Given the description of an element on the screen output the (x, y) to click on. 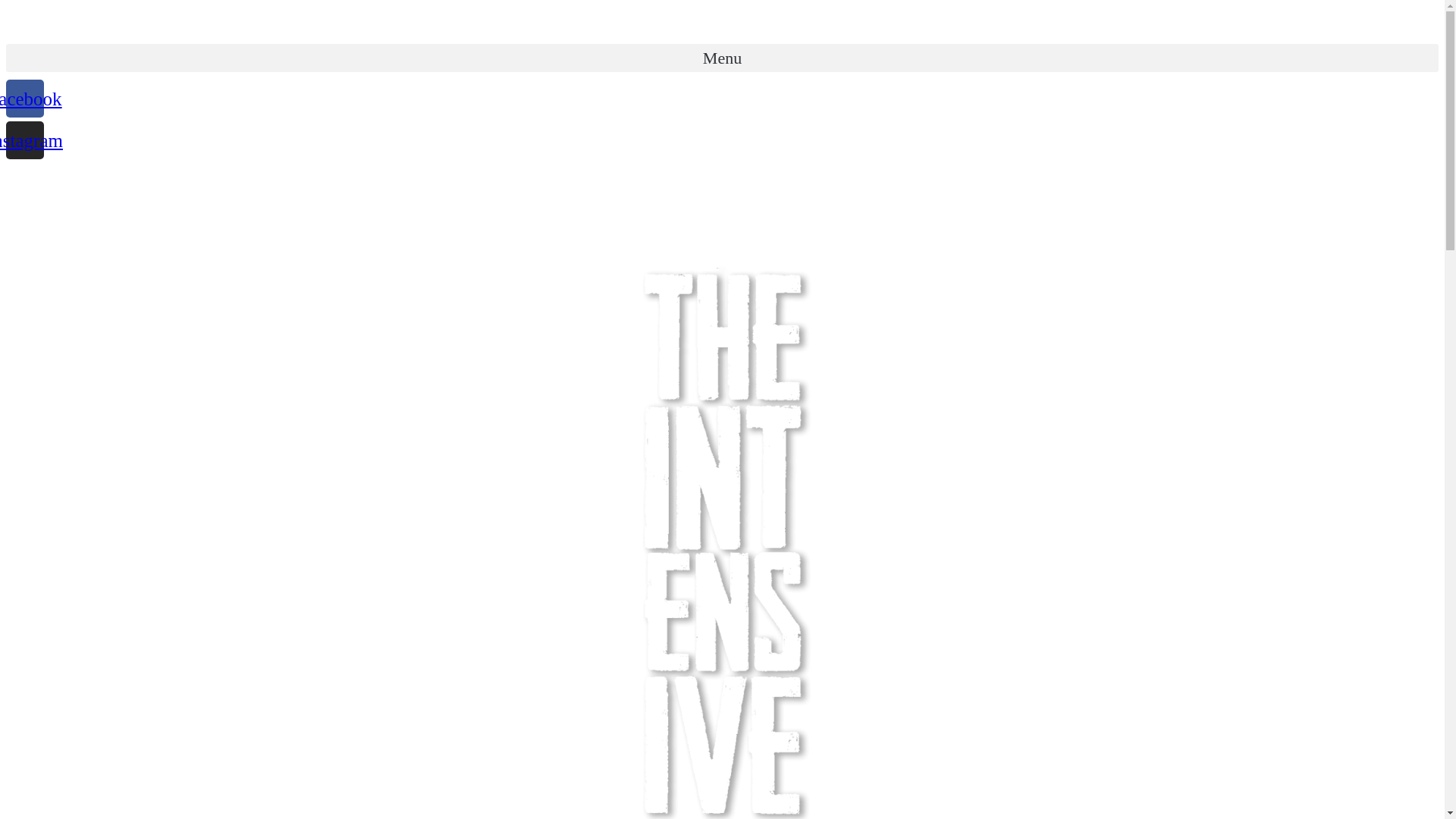
Facebook Element type: text (24, 98)
Instagram Element type: text (24, 140)
